Given the description of an element on the screen output the (x, y) to click on. 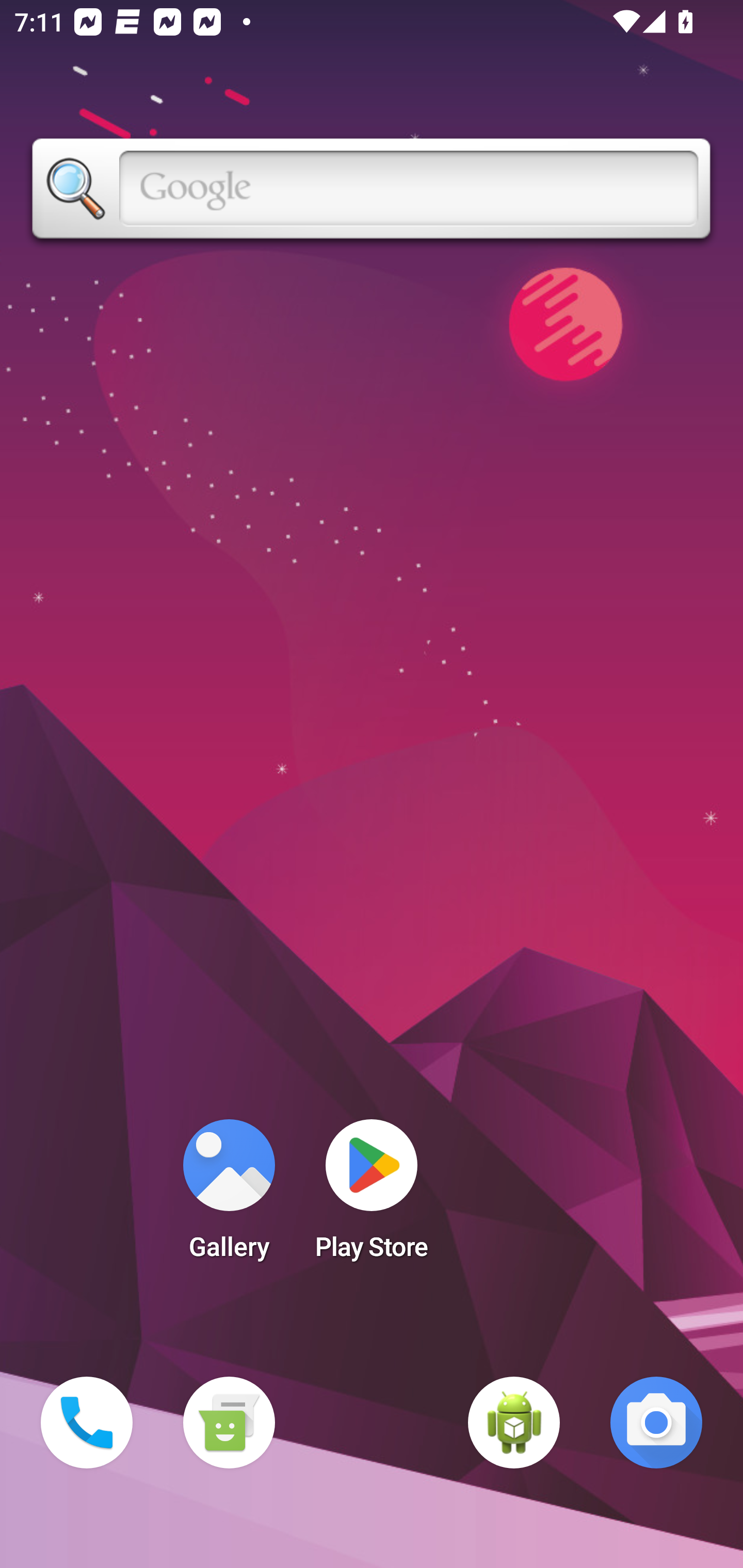
Gallery (228, 1195)
Play Store (371, 1195)
Phone (86, 1422)
Messaging (228, 1422)
WebView Browser Tester (513, 1422)
Camera (656, 1422)
